Given the description of an element on the screen output the (x, y) to click on. 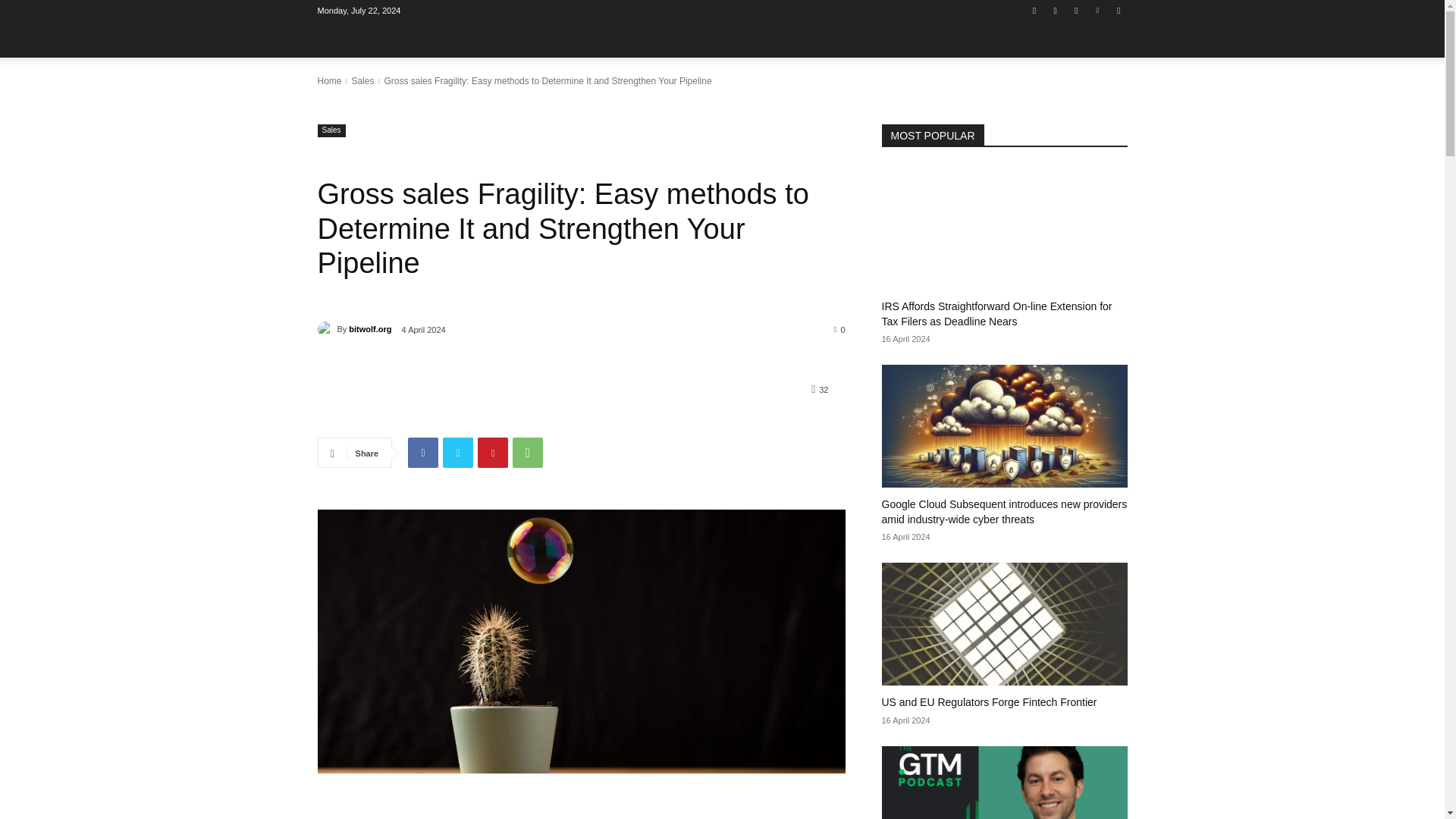
Sales (331, 130)
Sales (362, 81)
bitwolf.org (326, 328)
View all posts in Sales (362, 81)
Home (328, 81)
Vimeo (1097, 9)
Twitter (457, 452)
Youtube (1117, 9)
Facebook (1034, 9)
Pinterest (492, 452)
Twitter (1075, 9)
Instagram (1055, 9)
Facebook (422, 452)
